Given the description of an element on the screen output the (x, y) to click on. 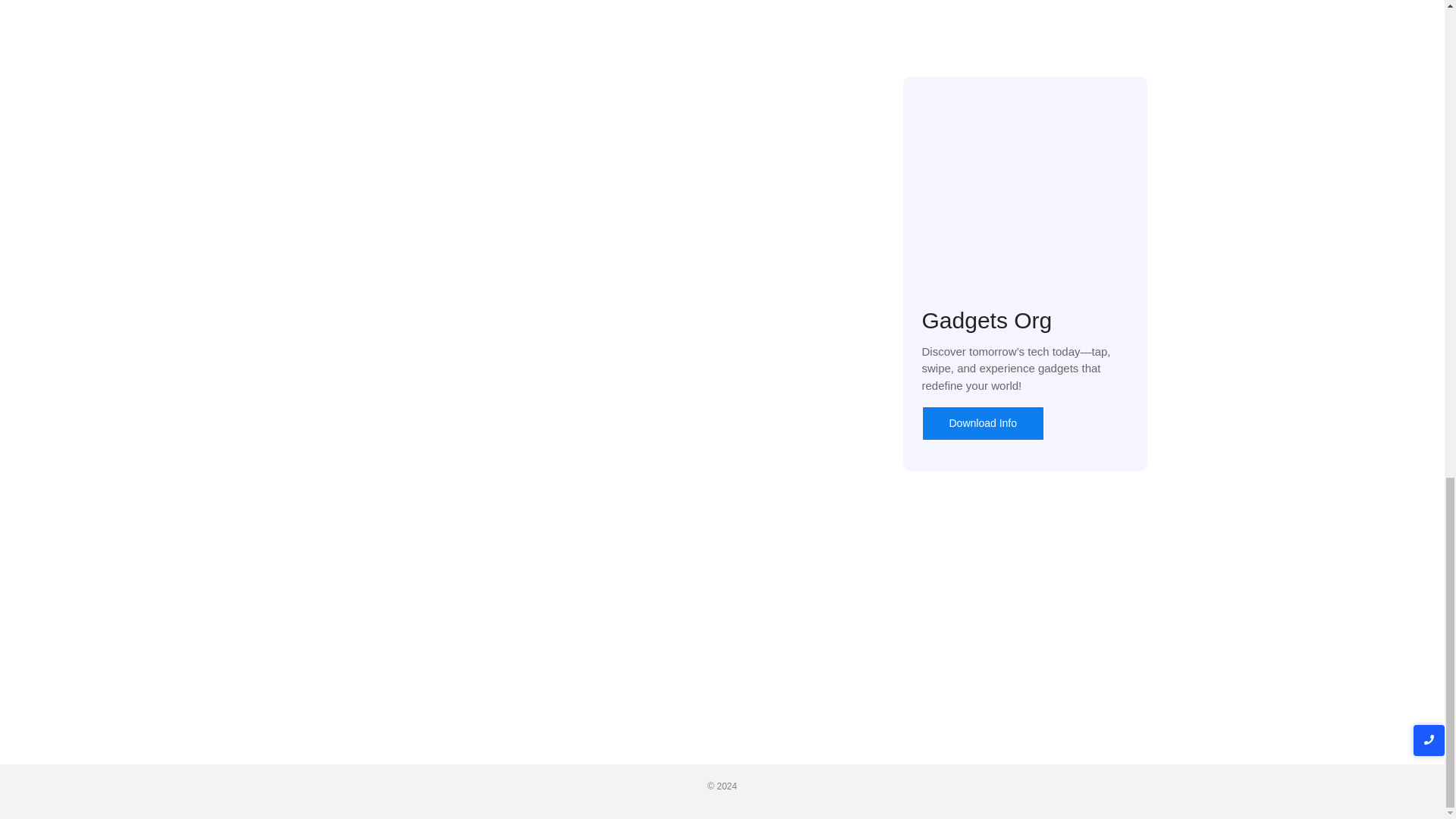
Download Info (983, 423)
